Given the description of an element on the screen output the (x, y) to click on. 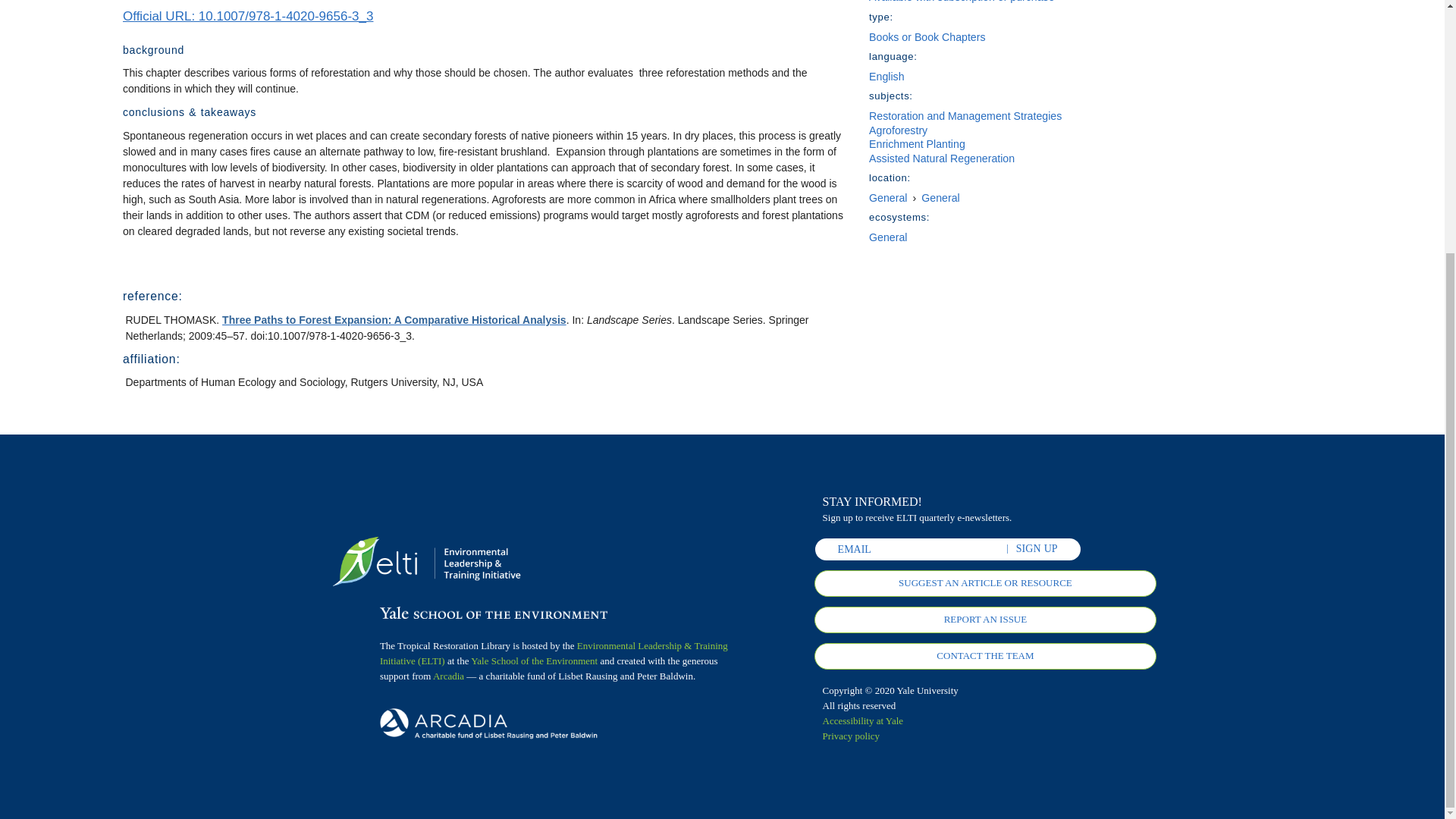
Agroforestry (898, 130)
Sign Up (1037, 548)
Enrichment Planting (917, 143)
General (888, 236)
General (888, 197)
Assisted Natural Regeneration (941, 158)
General (940, 197)
Books or Book Chapters (927, 37)
Restoration and Management Strategies (965, 115)
English (886, 76)
Available with subscription or purchase (961, 1)
